Given the description of an element on the screen output the (x, y) to click on. 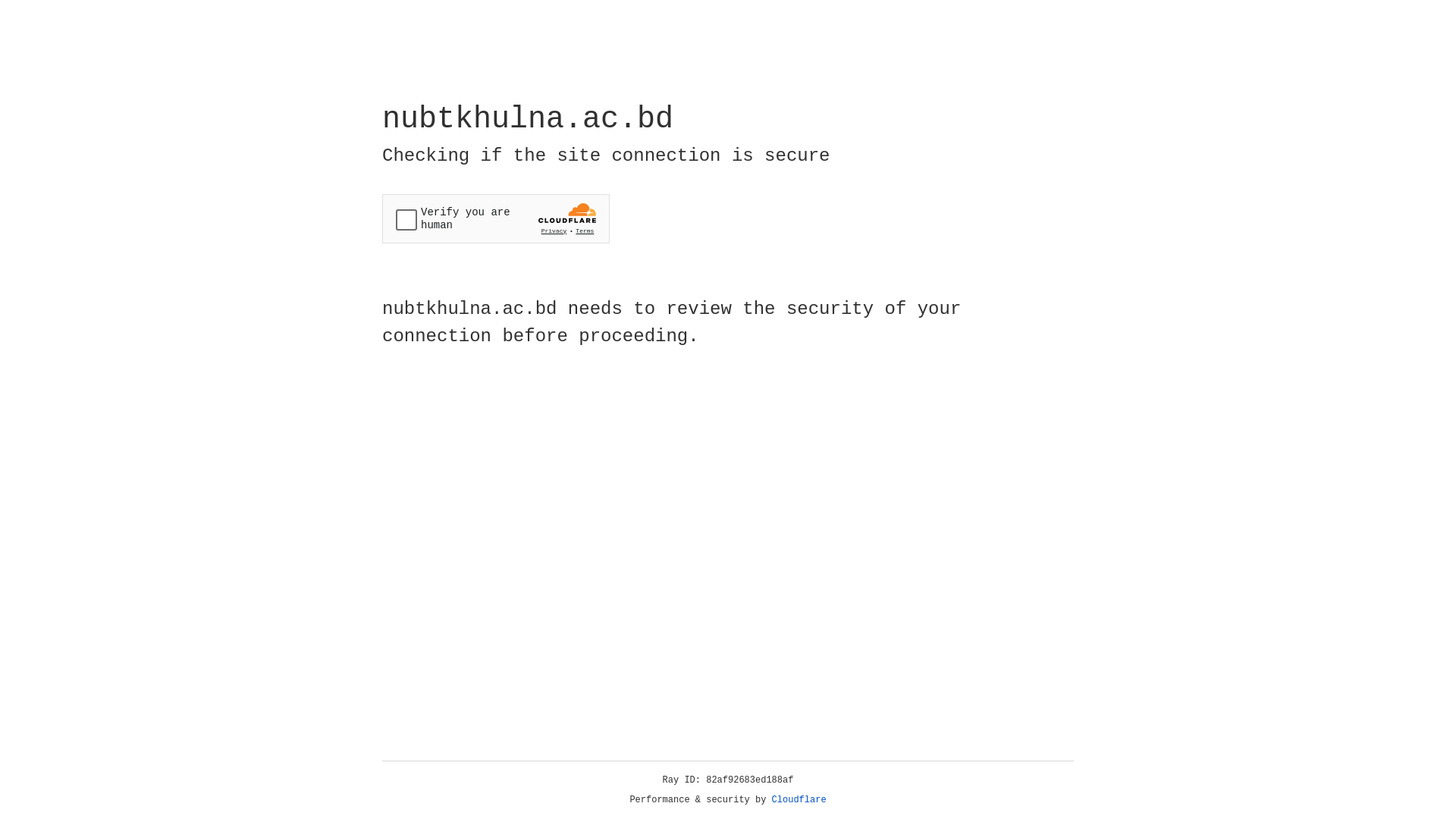
Widget containing a Cloudflare security challenge Element type: hover (495, 218)
Cloudflare Element type: text (798, 799)
